Given the description of an element on the screen output the (x, y) to click on. 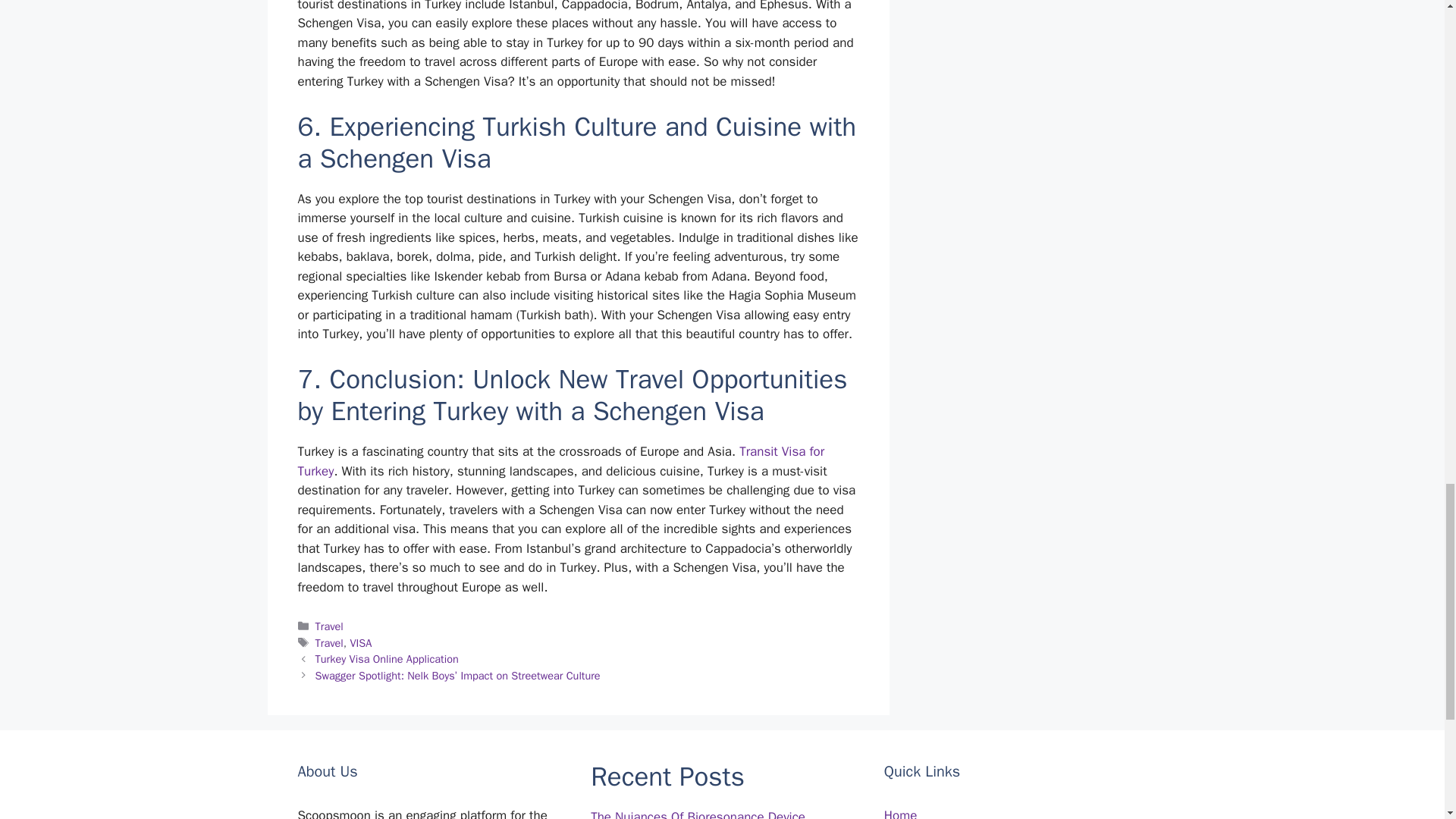
VISA (360, 643)
The Nuiances Of Bioresonance Device (698, 814)
Turkey Visa Online Application (386, 658)
Transit Visa for Turkey (560, 461)
Travel (329, 626)
Travel (329, 643)
